Given the description of an element on the screen output the (x, y) to click on. 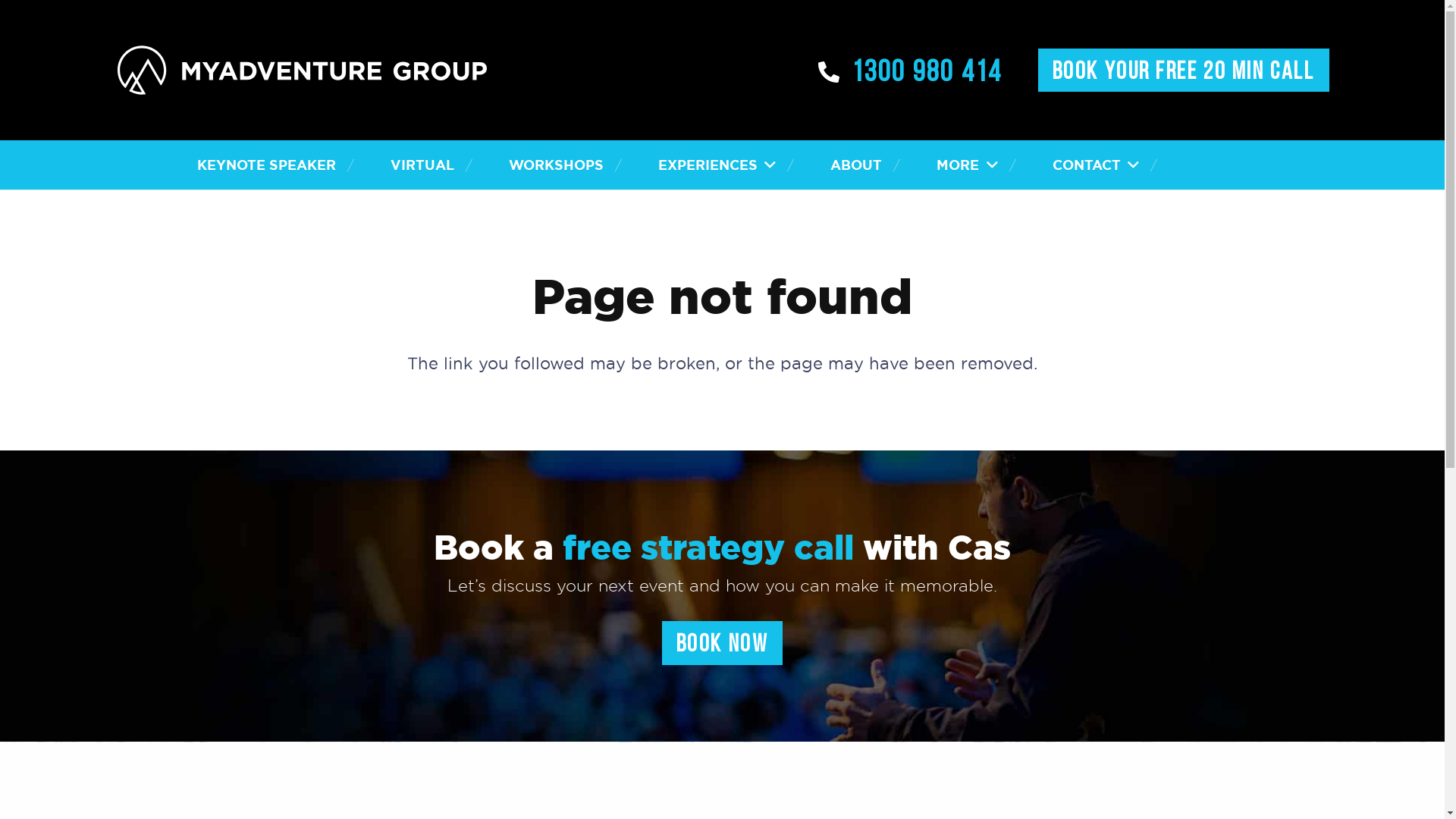
ABOUT Element type: text (856, 164)
KEYNOTE SPEAKER Element type: text (266, 164)
MORE Element type: text (966, 164)
WORKSHOPS Element type: text (555, 164)
VIRTUAL Element type: text (422, 164)
CONTACT Element type: text (1095, 164)
BOOK NOW Element type: text (722, 643)
EXPERIENCES Element type: text (716, 164)
1300 980 414 Element type: text (910, 69)
BOOK YOUR FREE 20 MIN CALL Element type: text (1183, 70)
